Given the description of an element on the screen output the (x, y) to click on. 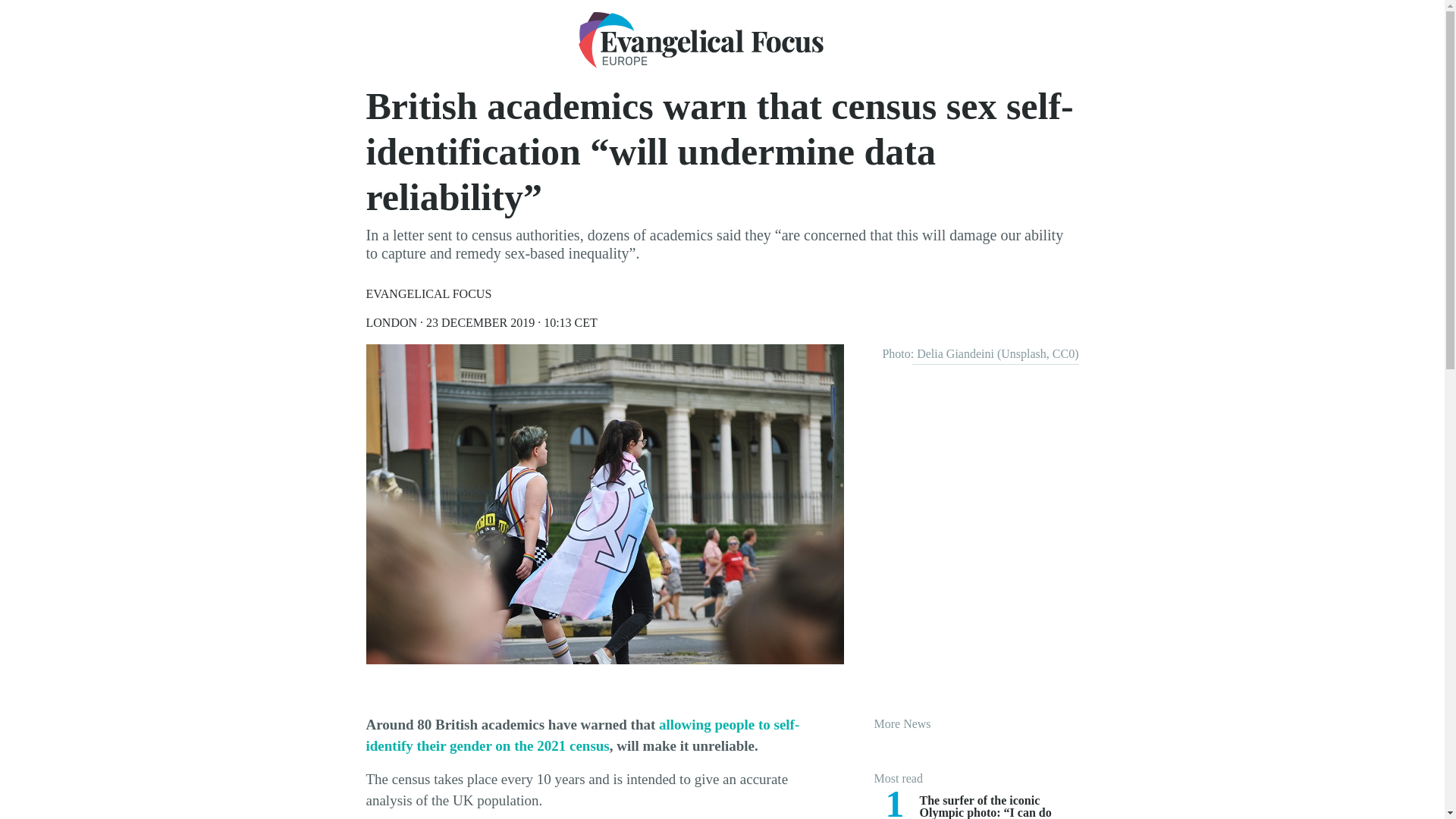
Evangelical Focus (700, 39)
EVANGELICAL FOCUS (428, 293)
